Given the description of an element on the screen output the (x, y) to click on. 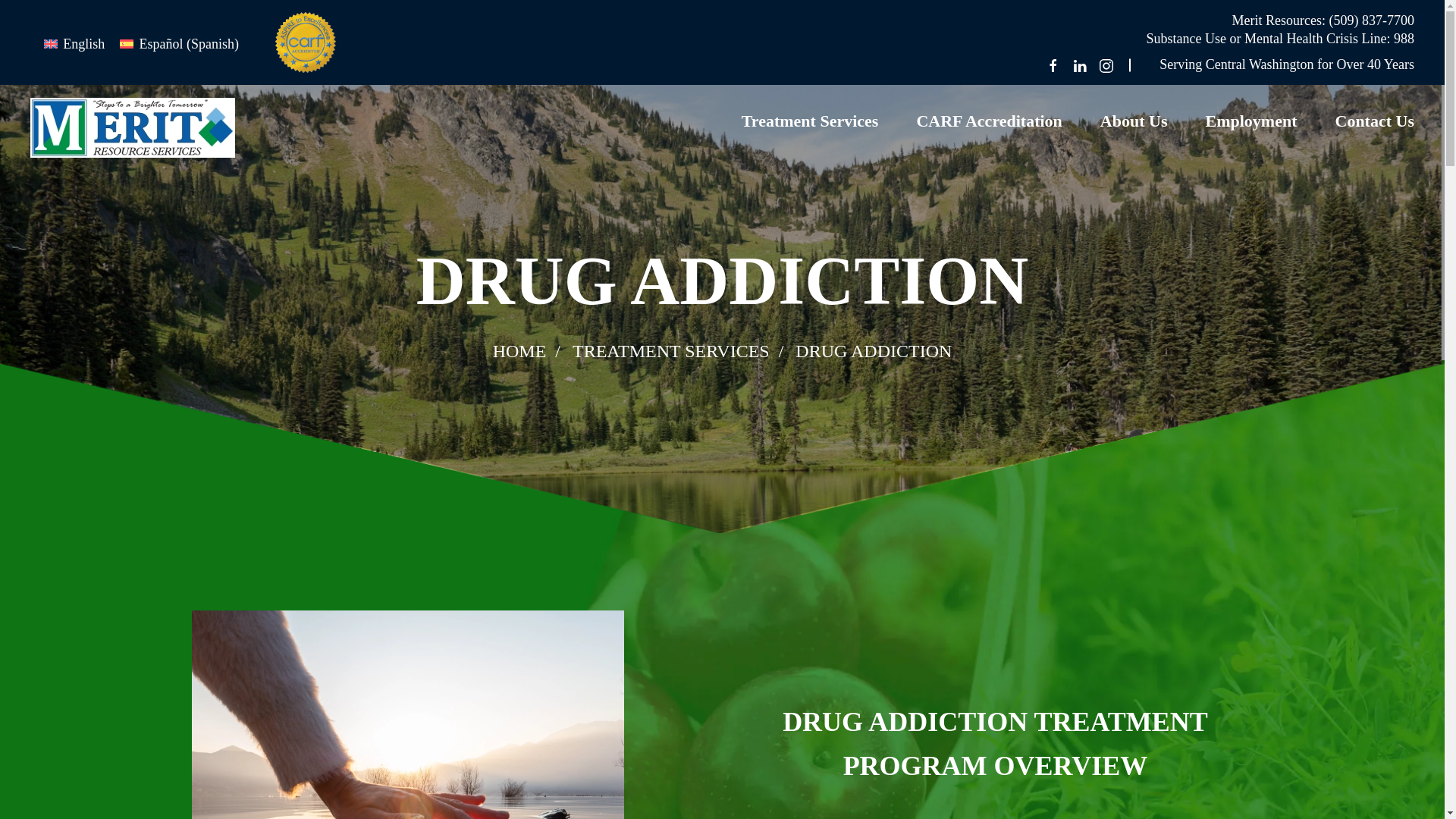
CARF Accreditation (988, 121)
English (74, 43)
Treatment Services (810, 121)
About Us (1133, 121)
